Given the description of an element on the screen output the (x, y) to click on. 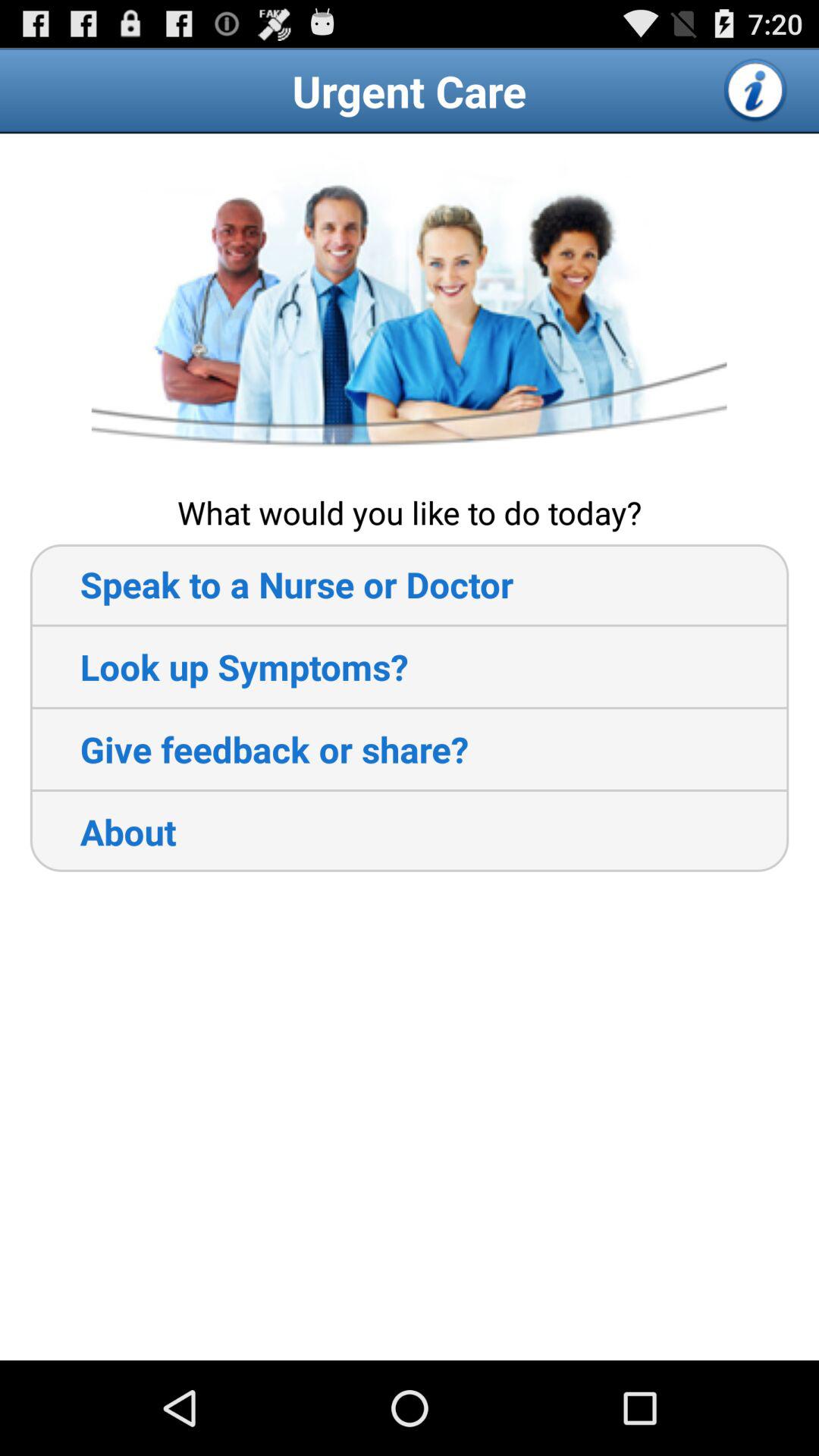
flip to give feedback or (249, 749)
